Given the description of an element on the screen output the (x, y) to click on. 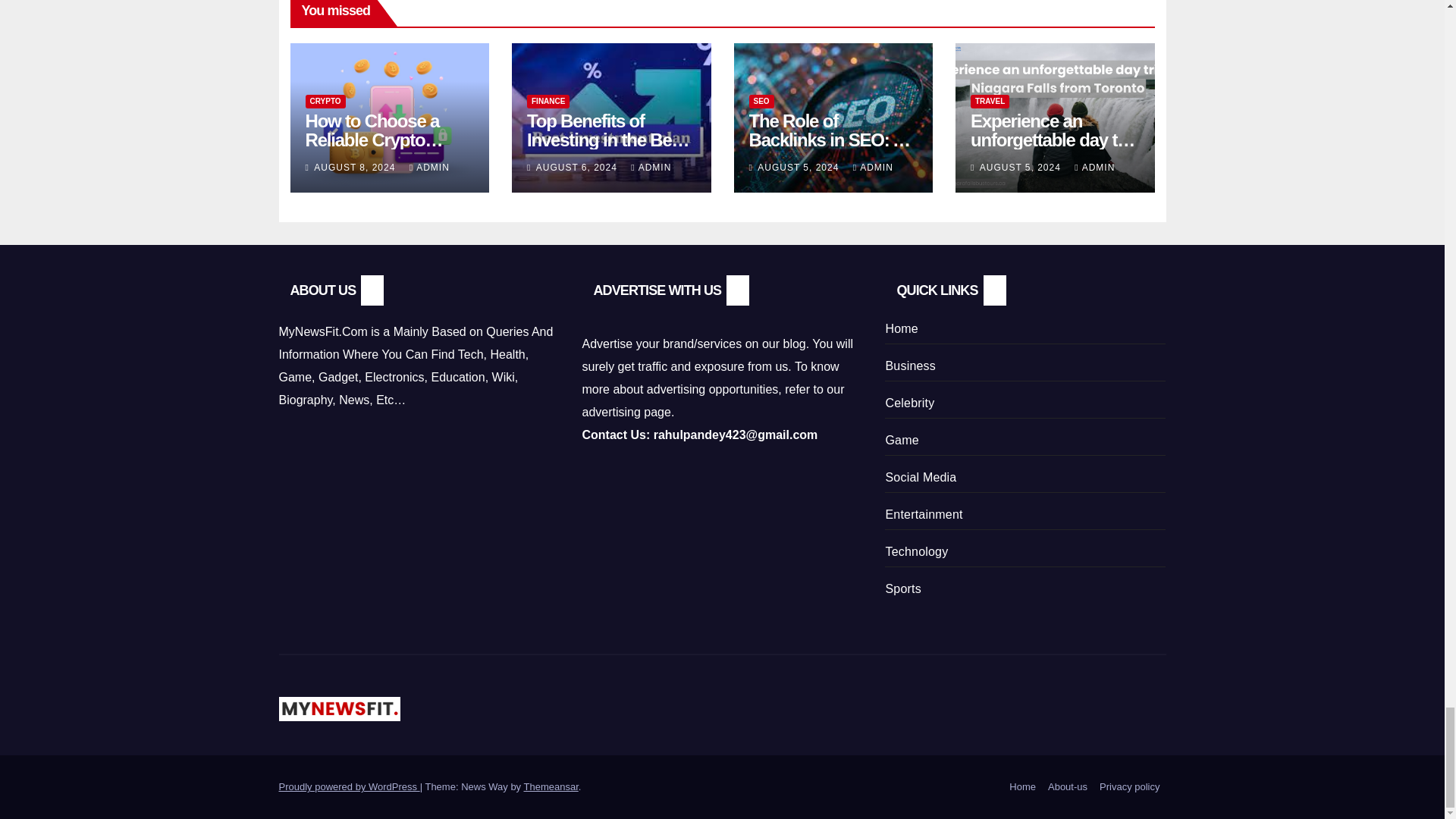
Permalink to: How to Choose a Reliable Crypto Exchange (373, 139)
